Given the description of an element on the screen output the (x, y) to click on. 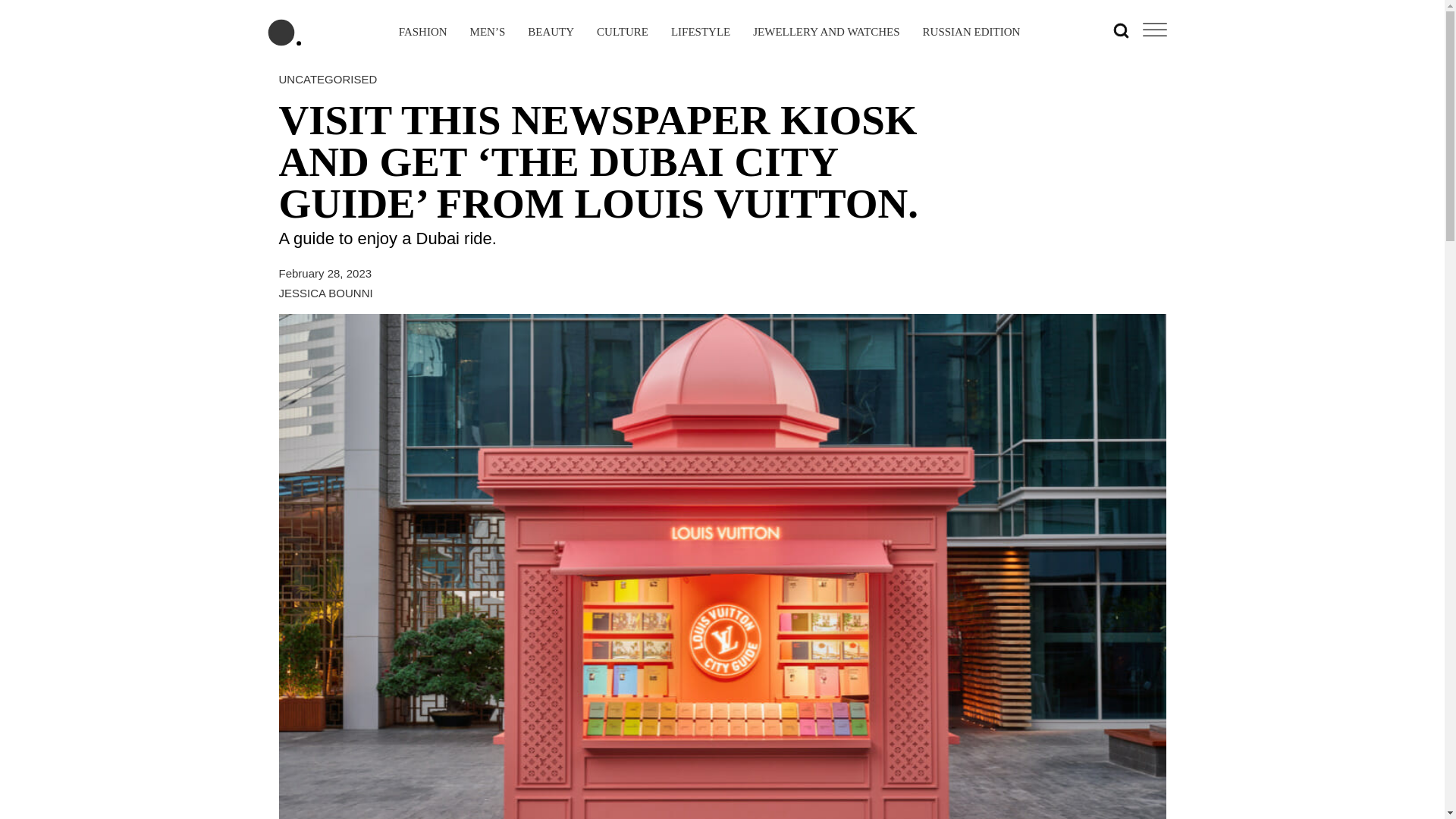
UNCATEGORISED (328, 78)
BEAUTY (550, 32)
FASHION (422, 32)
JEWELLERY AND WATCHES (825, 32)
JESSICA BOUNNI (325, 292)
LIFESTYLE (700, 32)
CULTURE (621, 32)
